Given the description of an element on the screen output the (x, y) to click on. 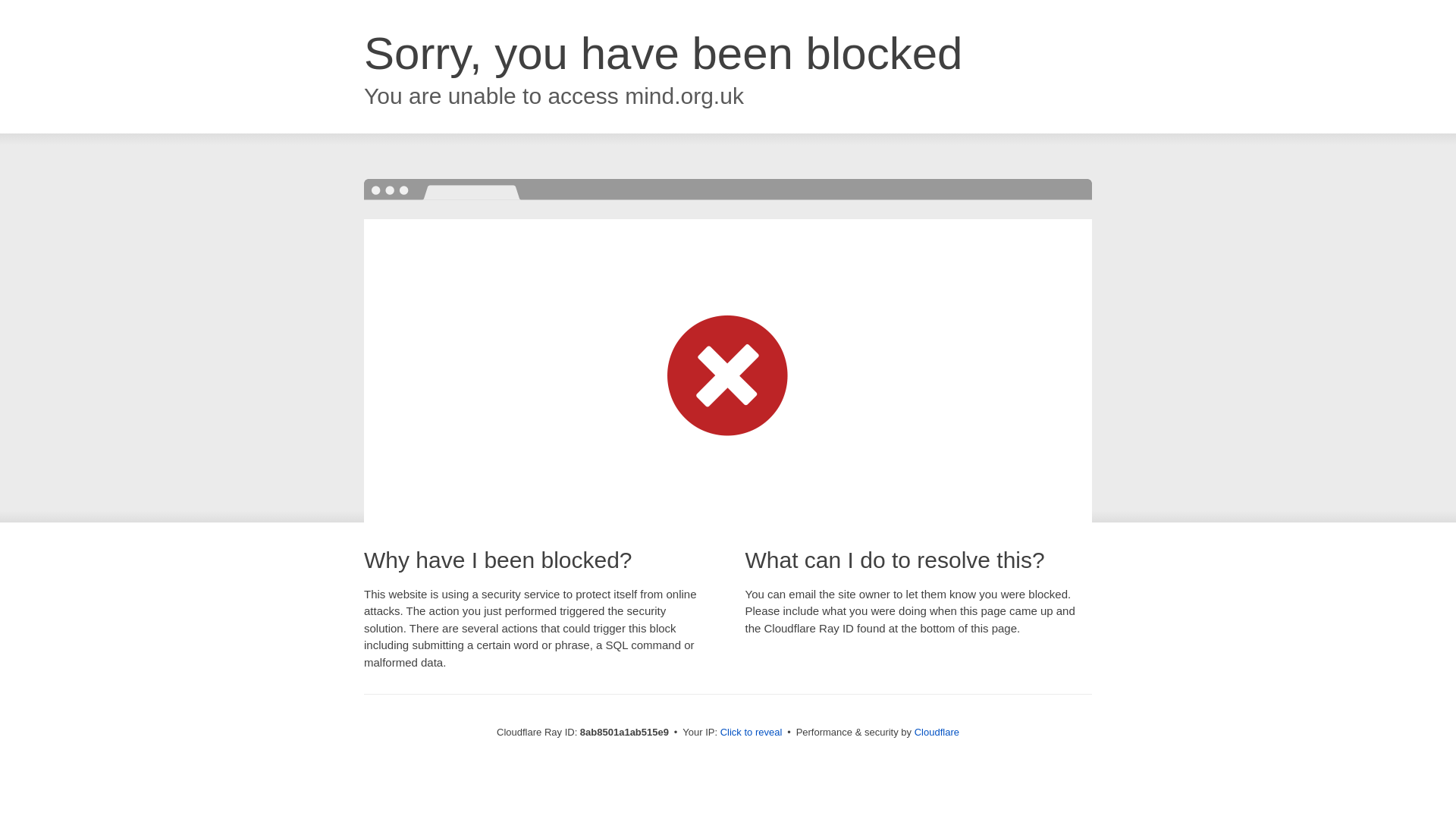
Cloudflare (936, 731)
Click to reveal (751, 732)
